Given the description of an element on the screen output the (x, y) to click on. 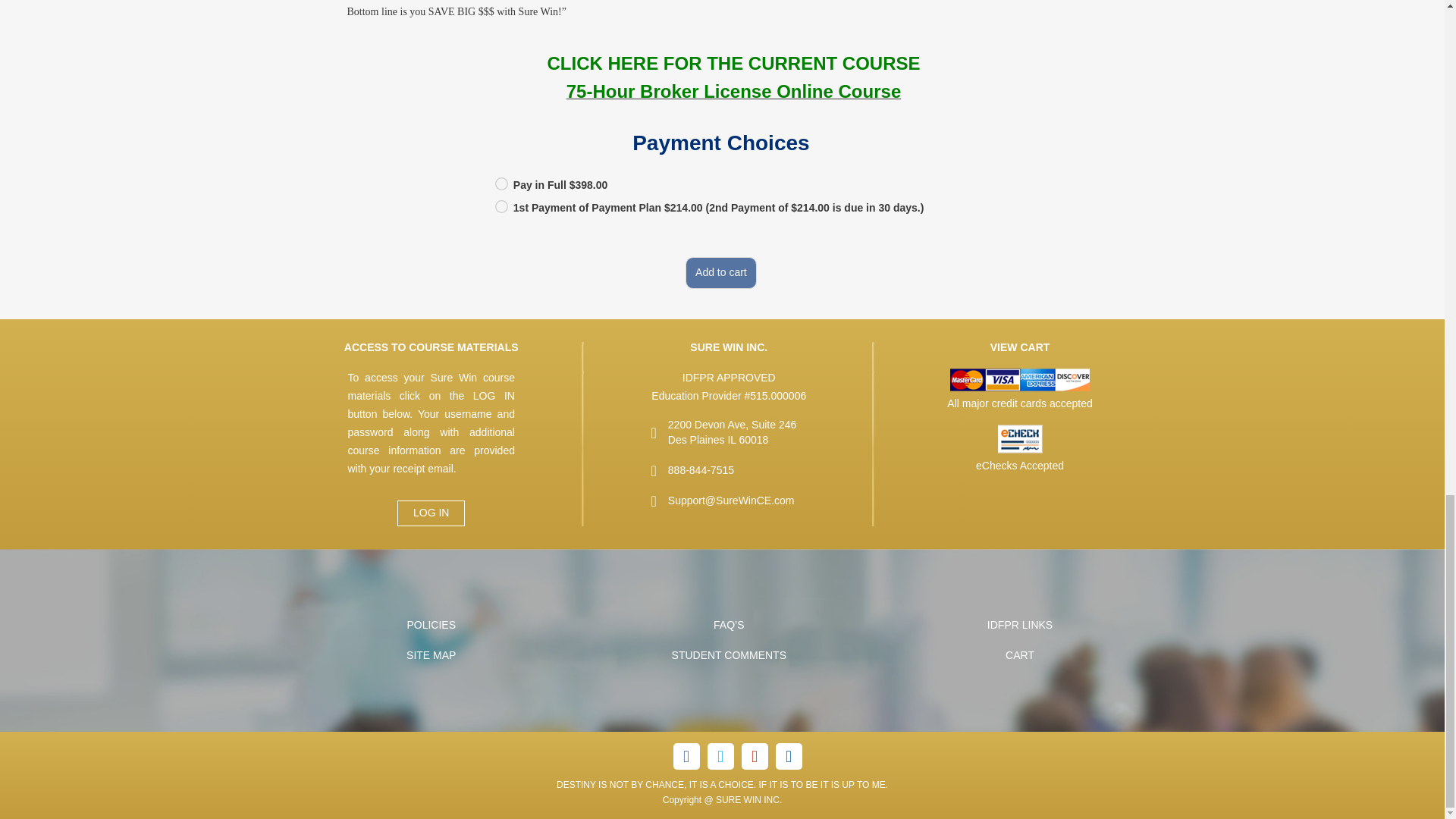
Add to cart (721, 273)
75-Hour Broker License Online Course (733, 93)
CART (1019, 654)
STUDENT COMMENTS (728, 655)
SITE MAP (430, 654)
IDFPR LINKS (1019, 624)
VIEW CART (1019, 346)
LOG IN (430, 513)
2200 Devon Ave, Suite 246 Des Plaines IL 60018 (737, 432)
POLICIES (430, 624)
